Given the description of an element on the screen output the (x, y) to click on. 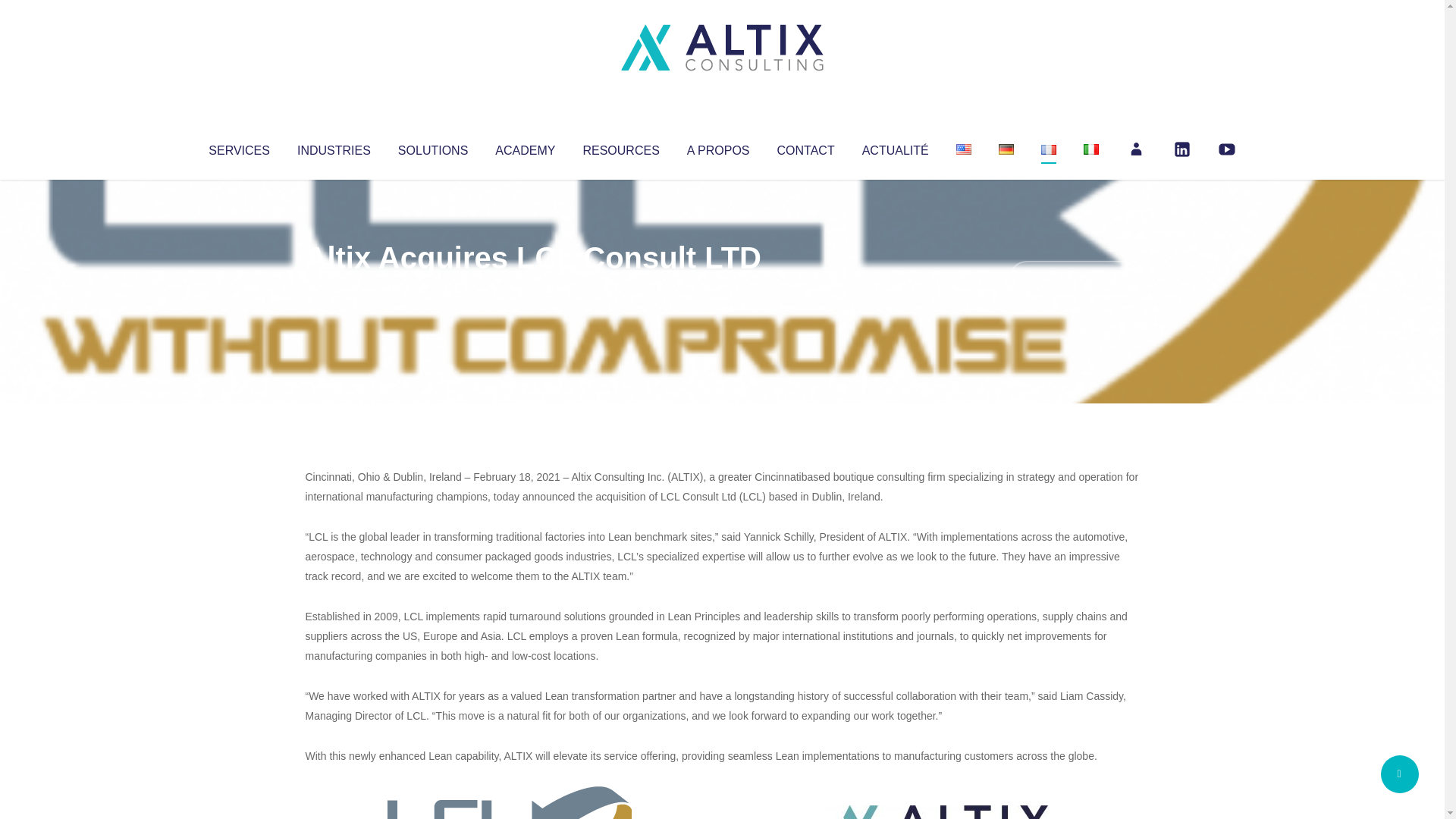
RESOURCES (620, 146)
Articles par Altix (333, 287)
SERVICES (238, 146)
No Comments (1073, 278)
Uncategorized (530, 287)
INDUSTRIES (334, 146)
Altix (333, 287)
A PROPOS (718, 146)
SOLUTIONS (432, 146)
ACADEMY (524, 146)
